Given the description of an element on the screen output the (x, y) to click on. 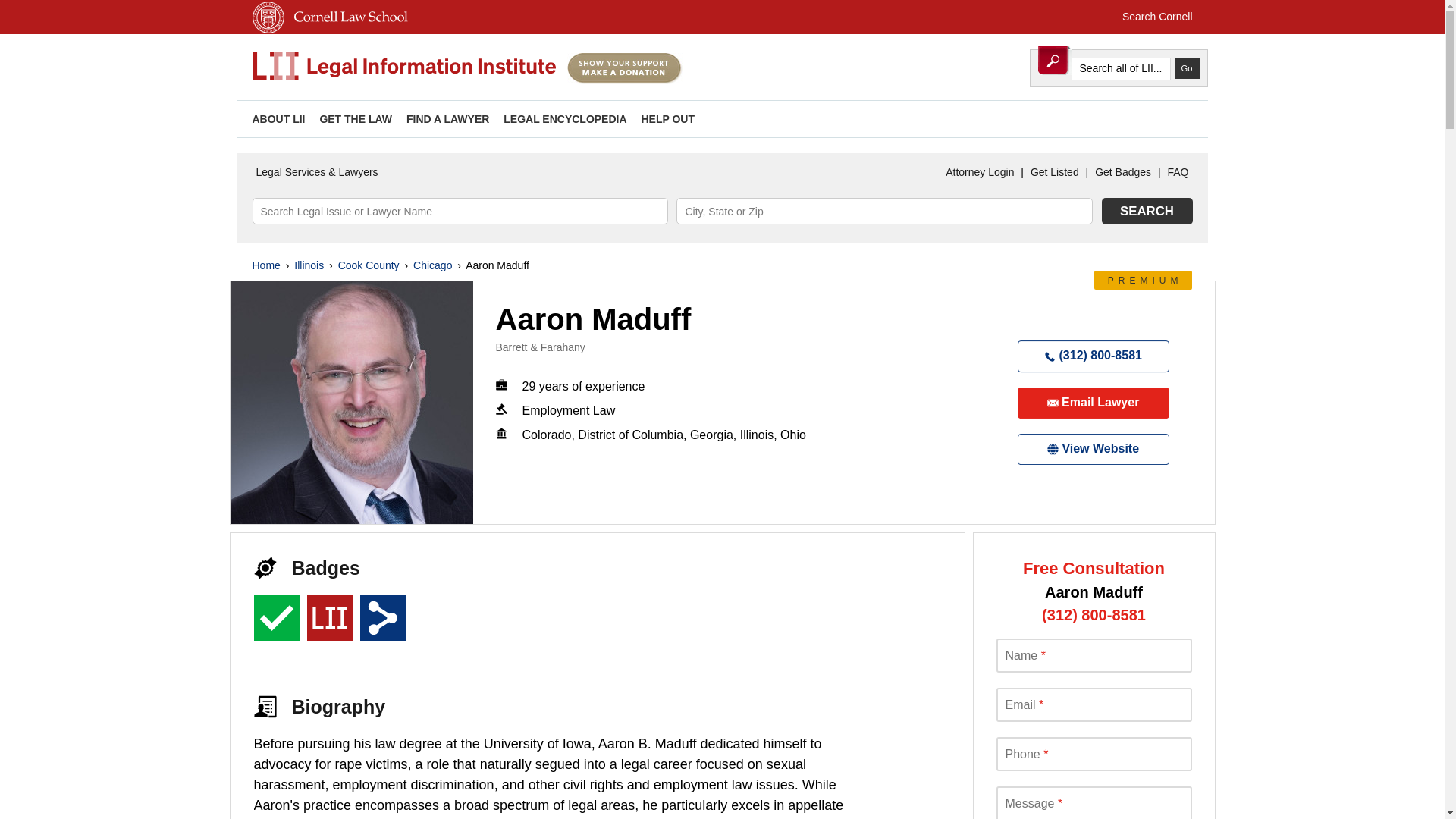
Home (265, 264)
Cornell - LII Attorney Directory (402, 67)
facebook like (1173, 118)
Search Legal Issue or Lawyer Name (459, 211)
View Website (1093, 449)
twitter follow (1125, 118)
Get Badges (1122, 172)
HELP OUT (667, 119)
FIND A LAWYER (447, 119)
Cornell University (267, 29)
FAQ (1177, 172)
Cook County (367, 264)
Name (1093, 655)
Attorney Login (979, 172)
ABOUT LII (277, 119)
